Given the description of an element on the screen output the (x, y) to click on. 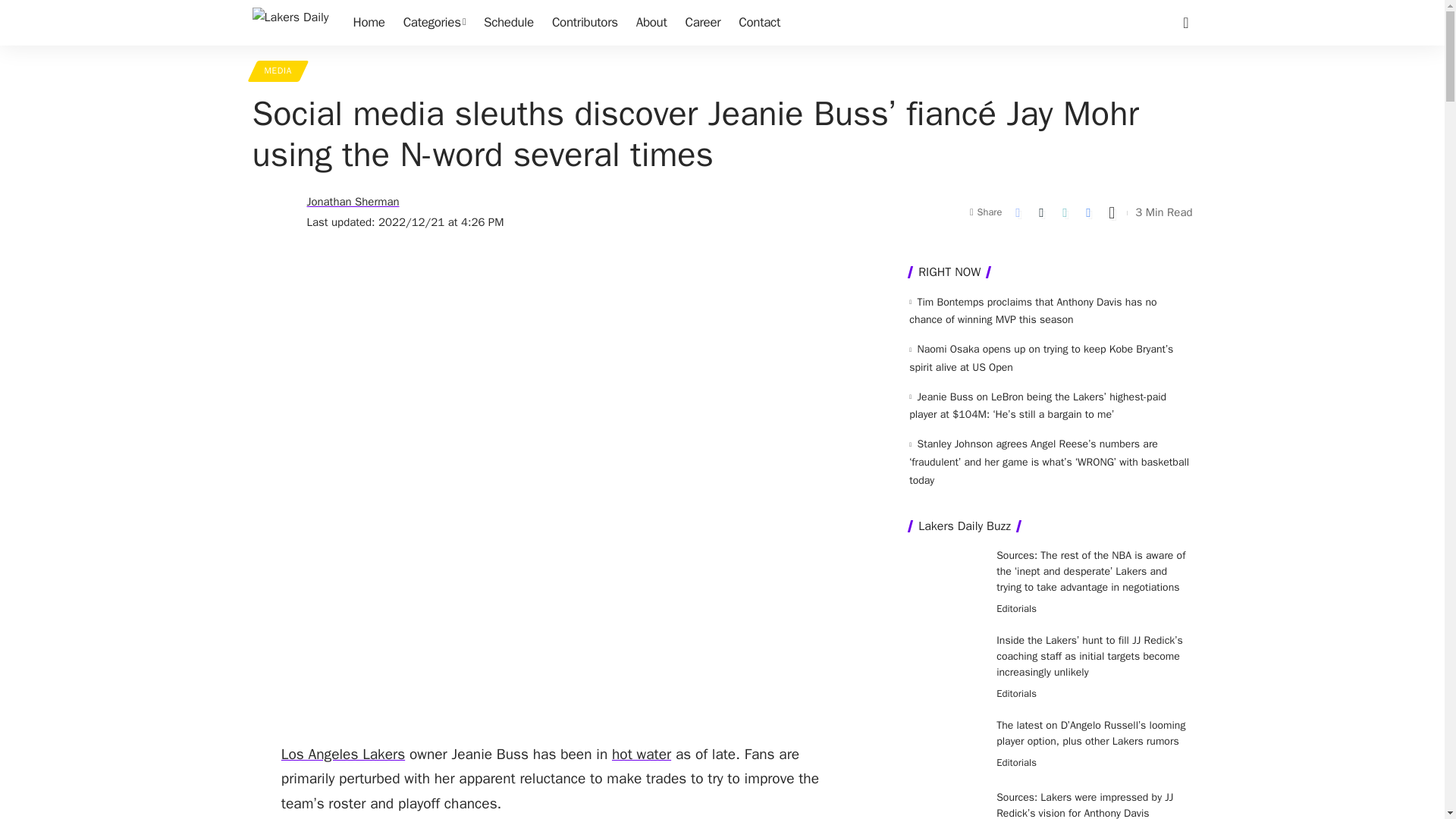
Home (368, 22)
Lakers Daily (290, 22)
hot water (641, 754)
Schedule (508, 22)
Career (703, 22)
MEDIA (276, 70)
Jonathan Sherman (351, 201)
About (652, 22)
Los Angeles Lakers (342, 754)
Los Angeles Lakers (342, 754)
